Given the description of an element on the screen output the (x, y) to click on. 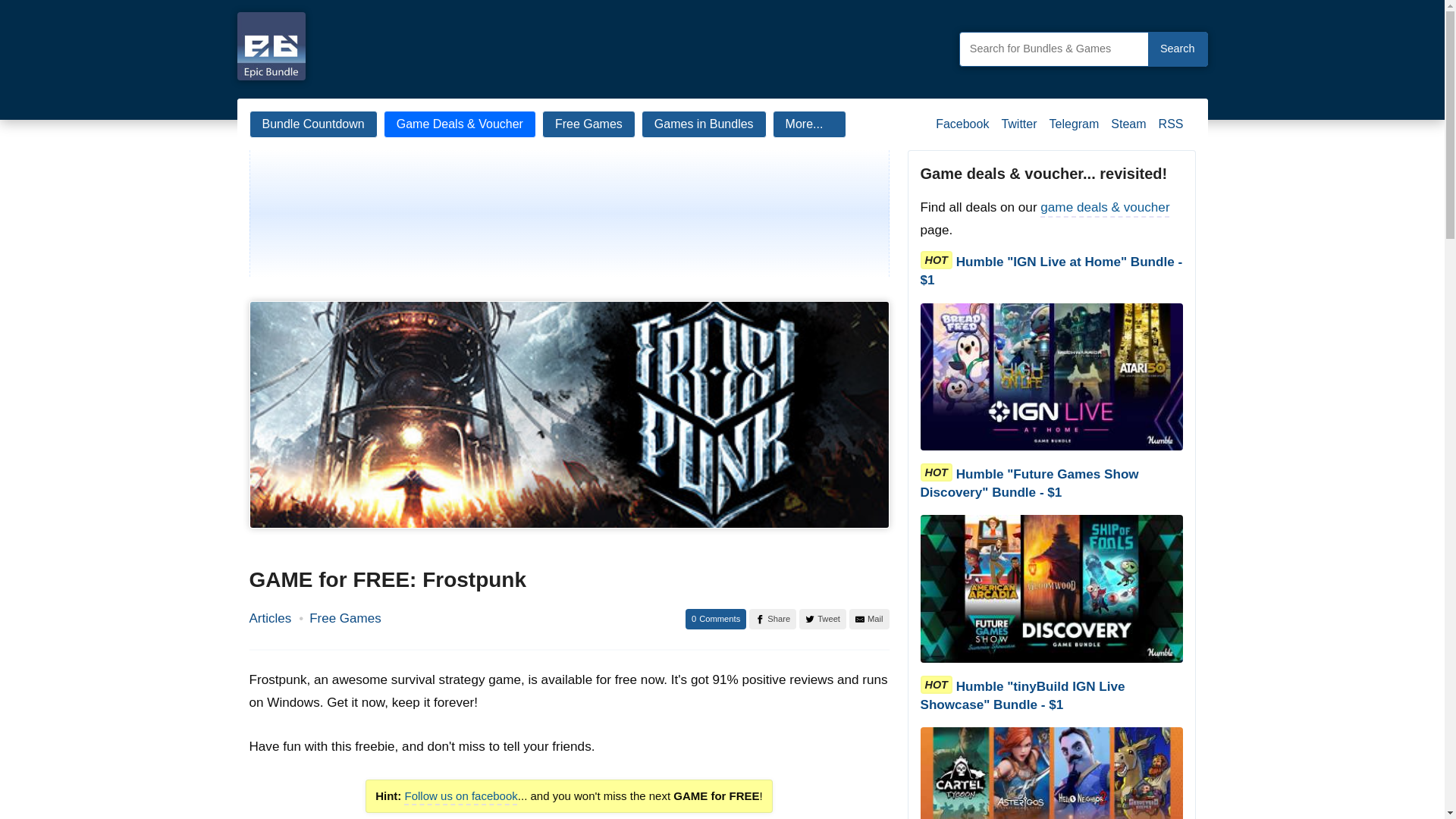
Free Games (344, 618)
Steam (1128, 129)
Games in Bundles (704, 124)
Tweet (822, 619)
Facebook (962, 129)
Send email about GAME for FREE: Frostpunk to your friends. (868, 619)
RSS (1171, 129)
0 (715, 619)
Share (772, 619)
Articles (269, 618)
